Given the description of an element on the screen output the (x, y) to click on. 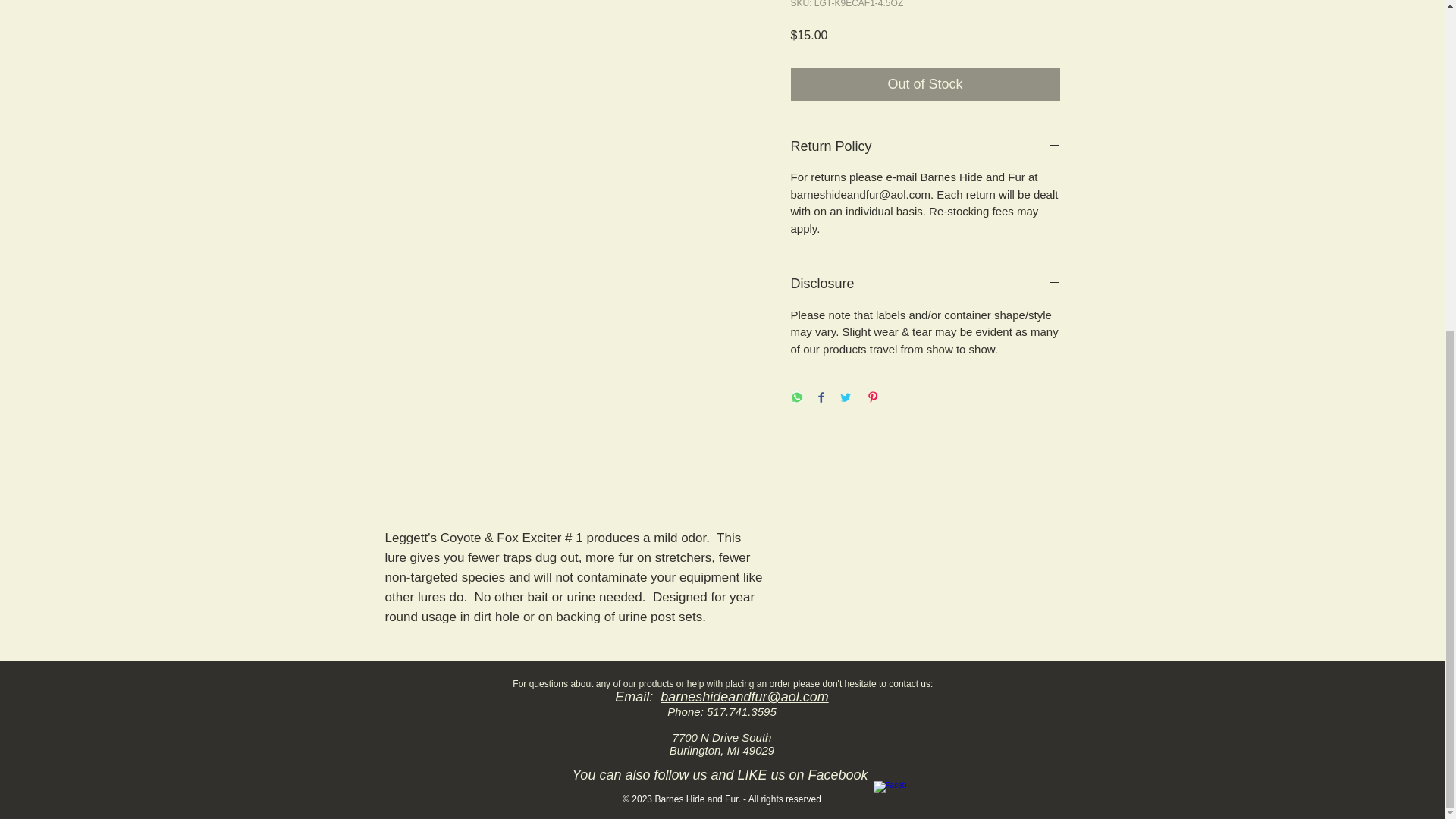
Out of Stock (924, 83)
Return Policy (924, 146)
Disclosure (924, 283)
